Given the description of an element on the screen output the (x, y) to click on. 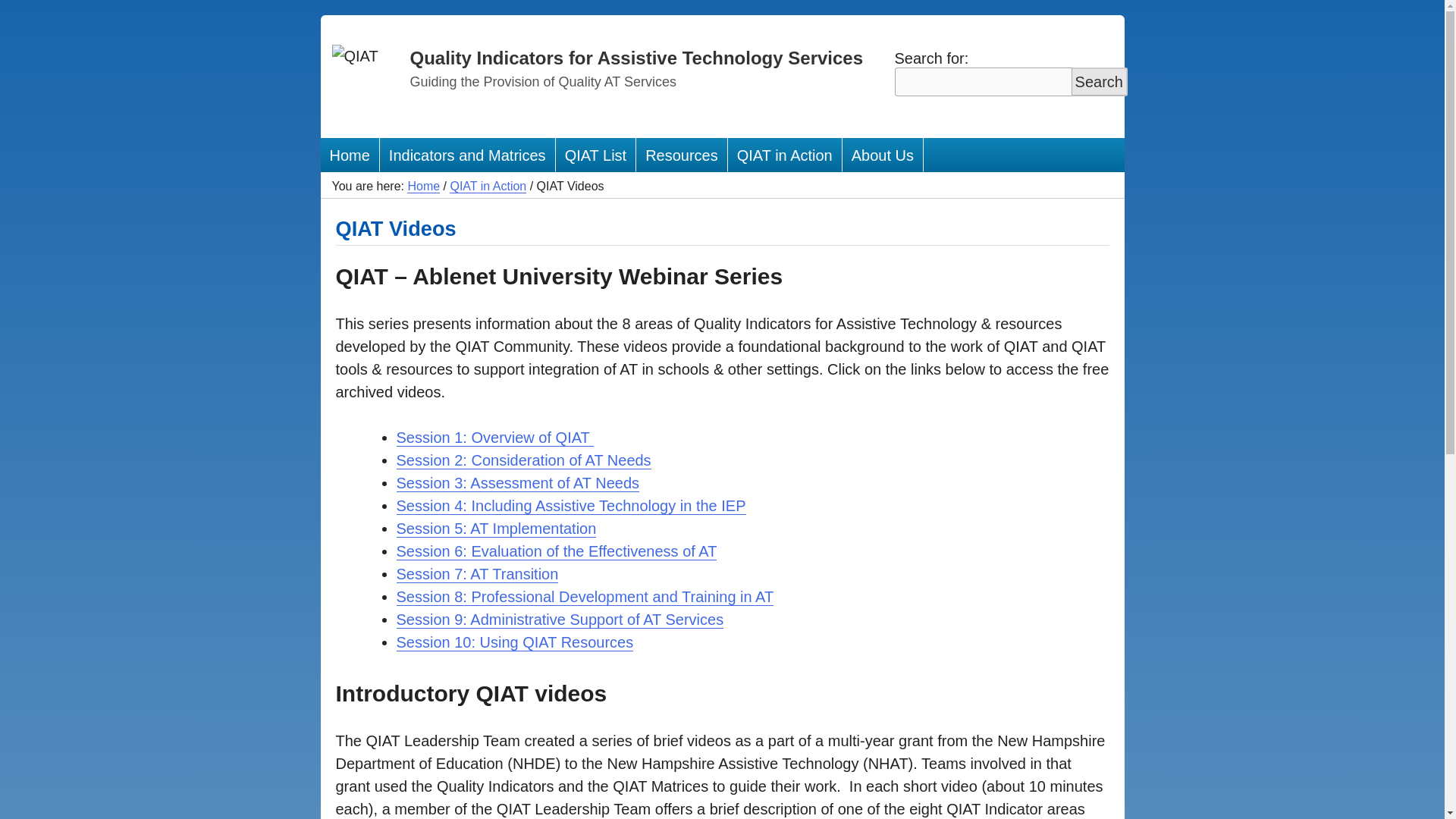
Session 1: Overview of QIAT  (494, 437)
Session 7: AT Transition (476, 574)
Resources (682, 154)
About Us (883, 154)
Home (349, 154)
Session 2: Consideration of AT Needs (523, 460)
Session 6: Evaluation of the Effectiveness of AT (556, 551)
Home (423, 186)
Quality Indicators for Assistive Technology Services (636, 57)
